Given the description of an element on the screen output the (x, y) to click on. 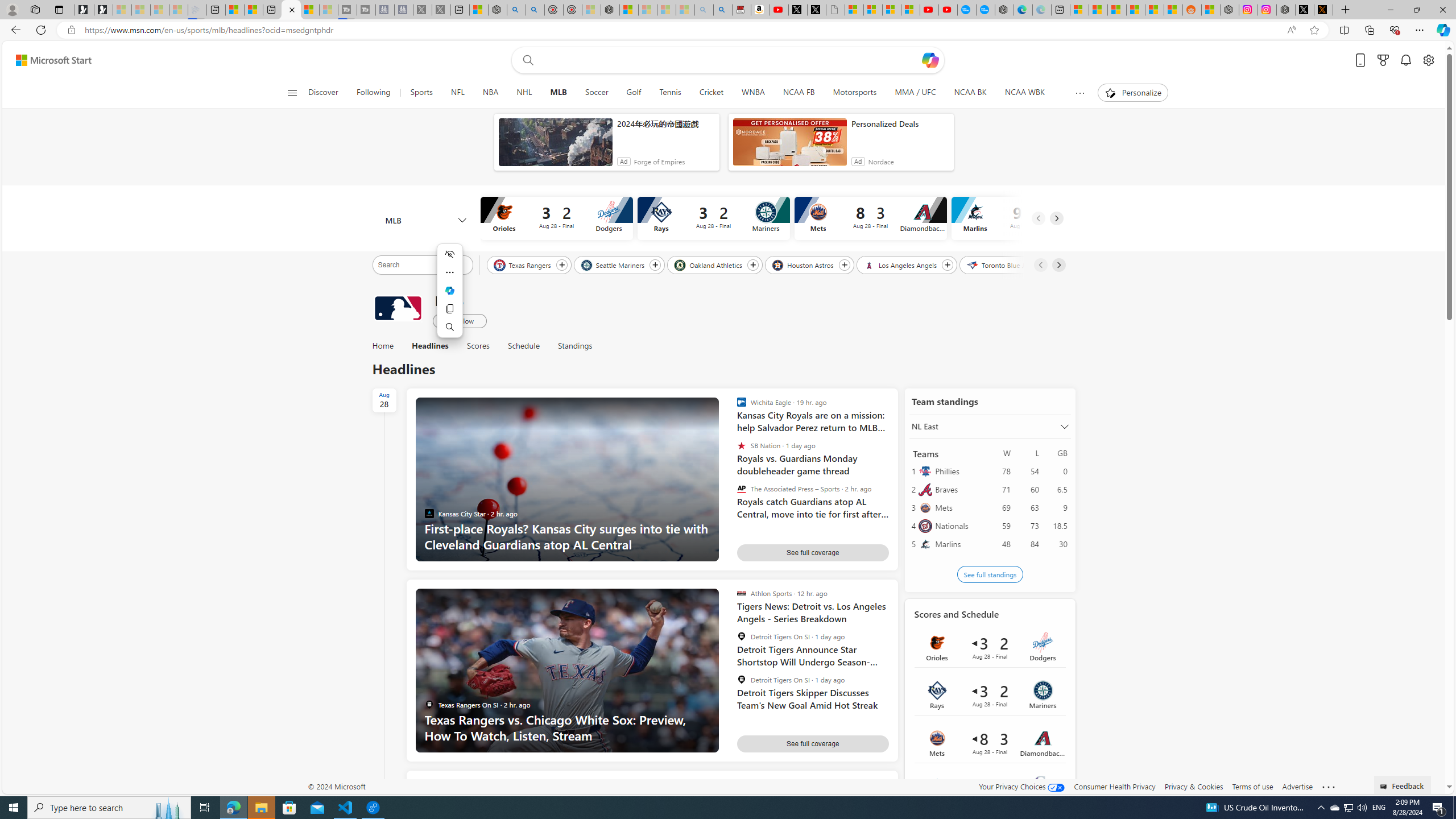
Cricket (711, 92)
MLB (425, 220)
Enter your search term (730, 59)
Cricket (710, 92)
MLB (397, 308)
NCAA WBK (1024, 92)
MLB (558, 92)
Scores (477, 345)
Terms of use (1252, 785)
